Given the description of an element on the screen output the (x, y) to click on. 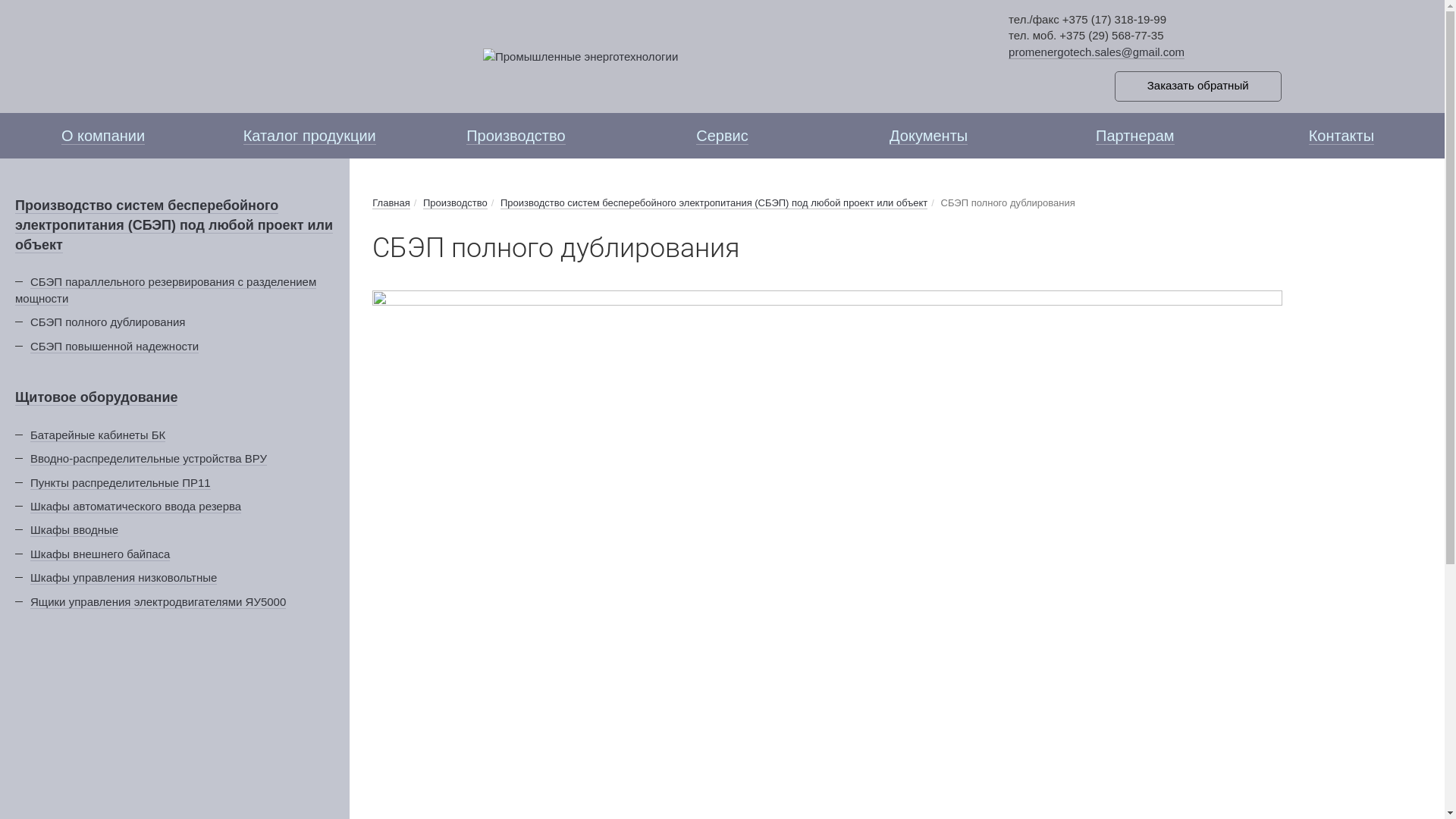
promenergotech.sales@gmail.com Element type: text (1096, 52)
